Given the description of an element on the screen output the (x, y) to click on. 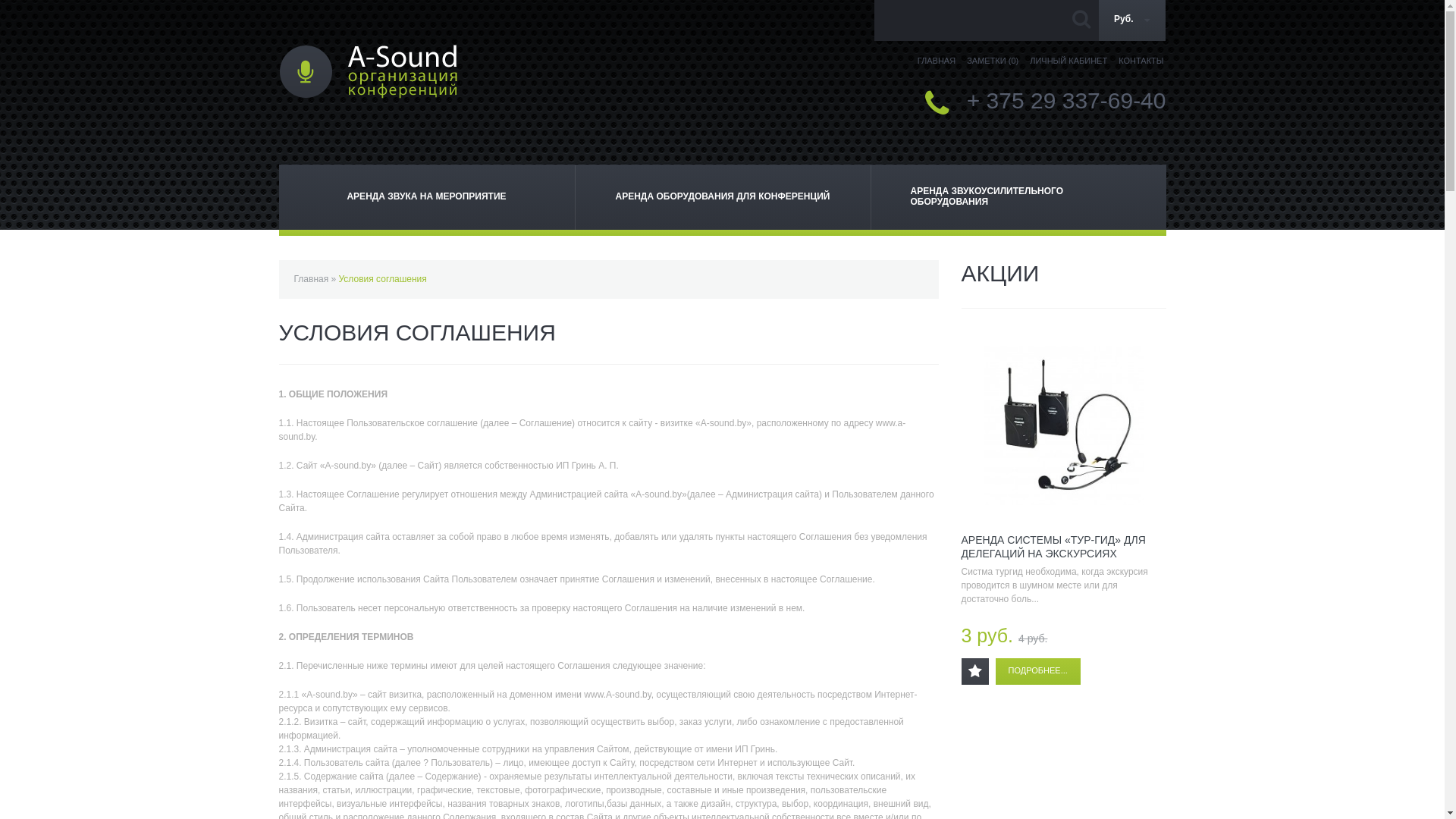
A-Sound Element type: hover (368, 71)
